Given the description of an element on the screen output the (x, y) to click on. 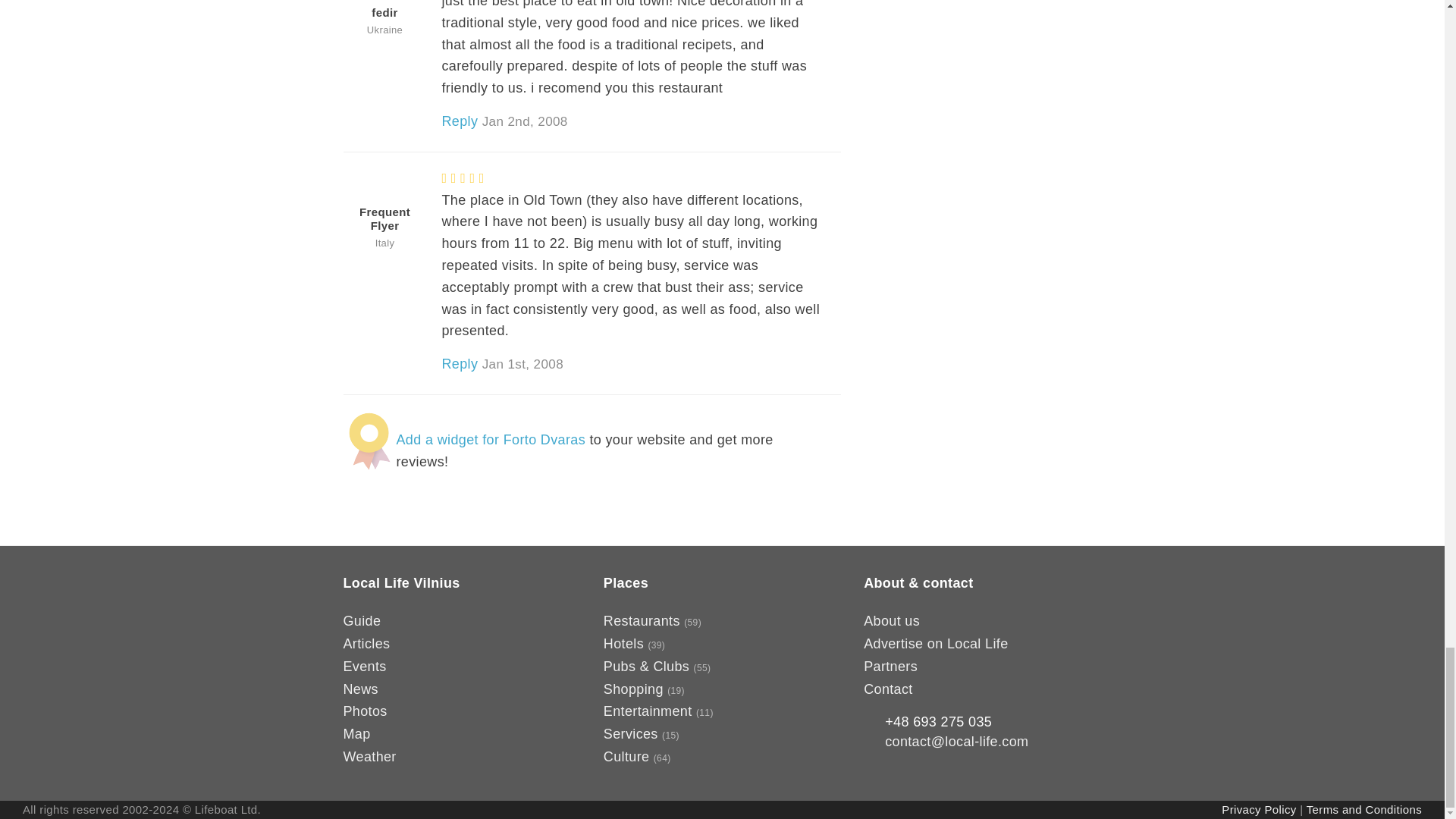
Add a widget for Forto Dvaras (490, 439)
Reply (459, 120)
Reply (459, 363)
